Given the description of an element on the screen output the (x, y) to click on. 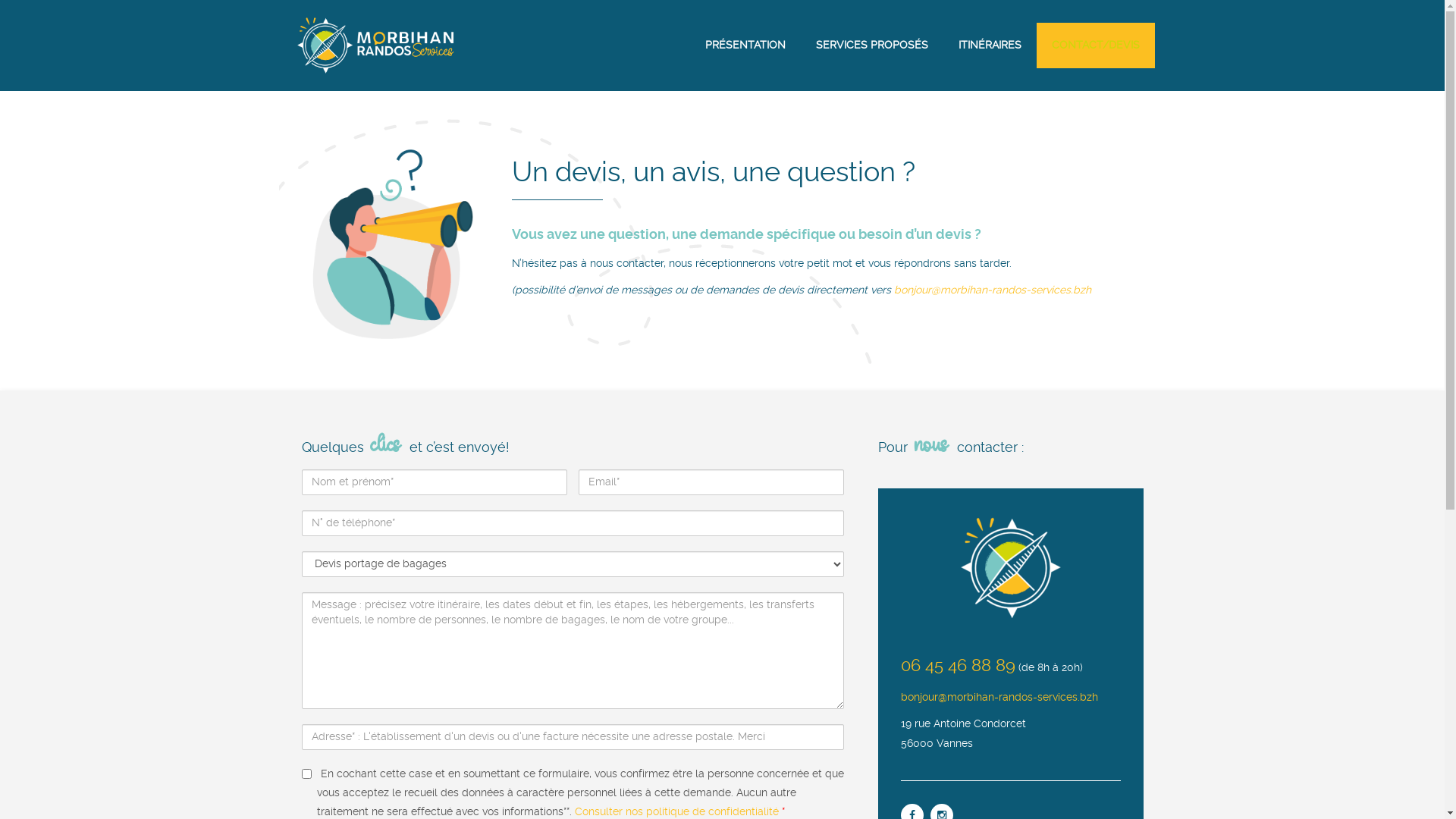
CONTACT/DEVIS Element type: text (1094, 45)
06 45 46 88 89 Element type: text (957, 667)
bonjour@morbihan-randos-services.bzh Element type: text (999, 697)
bonjour@morbihan-randos-services.bzh Element type: text (992, 290)
Morbihan Randos Services - Le site des randonneurs Element type: hover (374, 45)
